Given the description of an element on the screen output the (x, y) to click on. 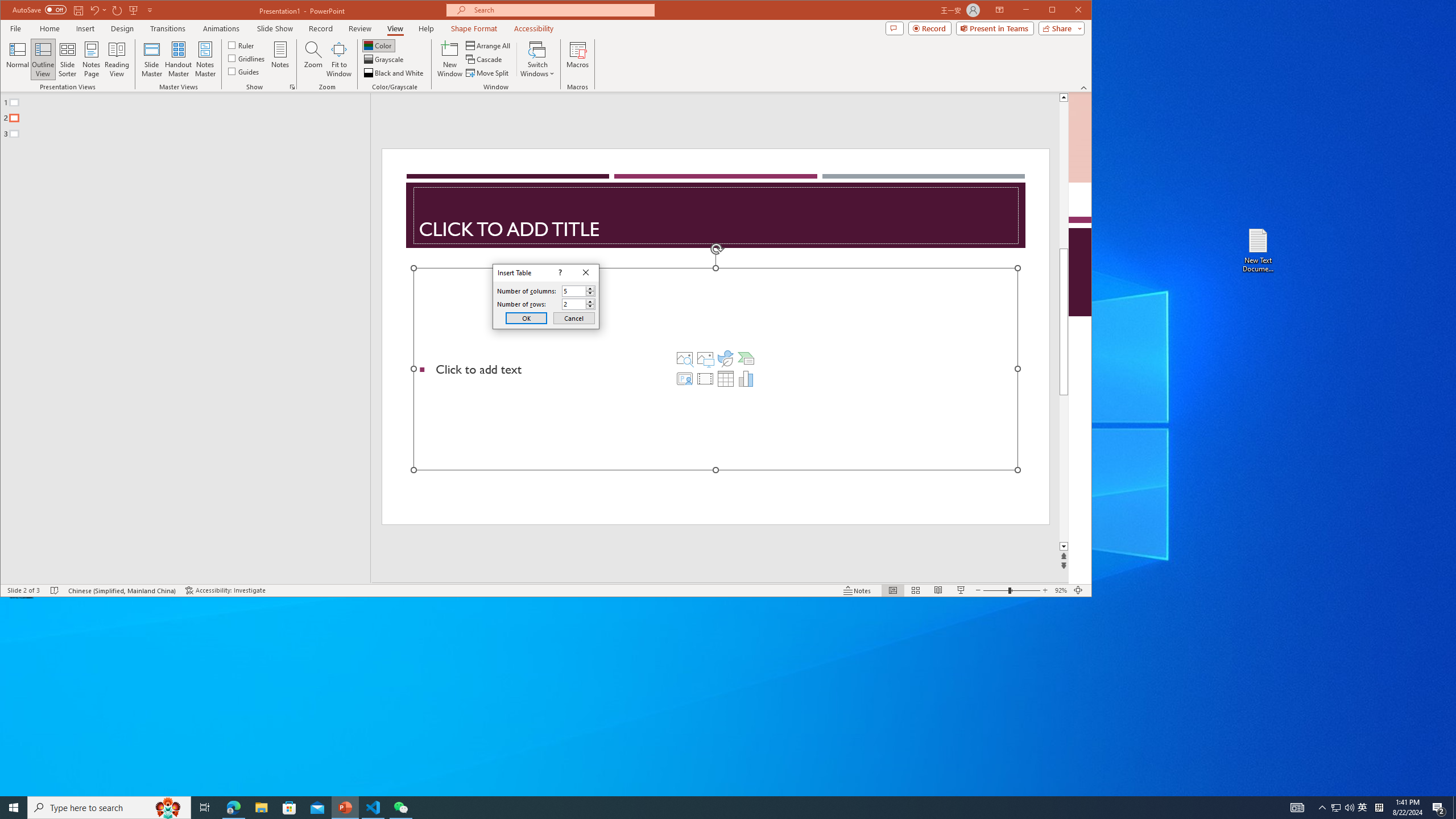
Insert an Icon (725, 357)
Number of columns (578, 290)
OK (526, 318)
Handout Master (178, 59)
Black and White (394, 72)
Gridlines (246, 57)
Grid Settings... (292, 86)
